Given the description of an element on the screen output the (x, y) to click on. 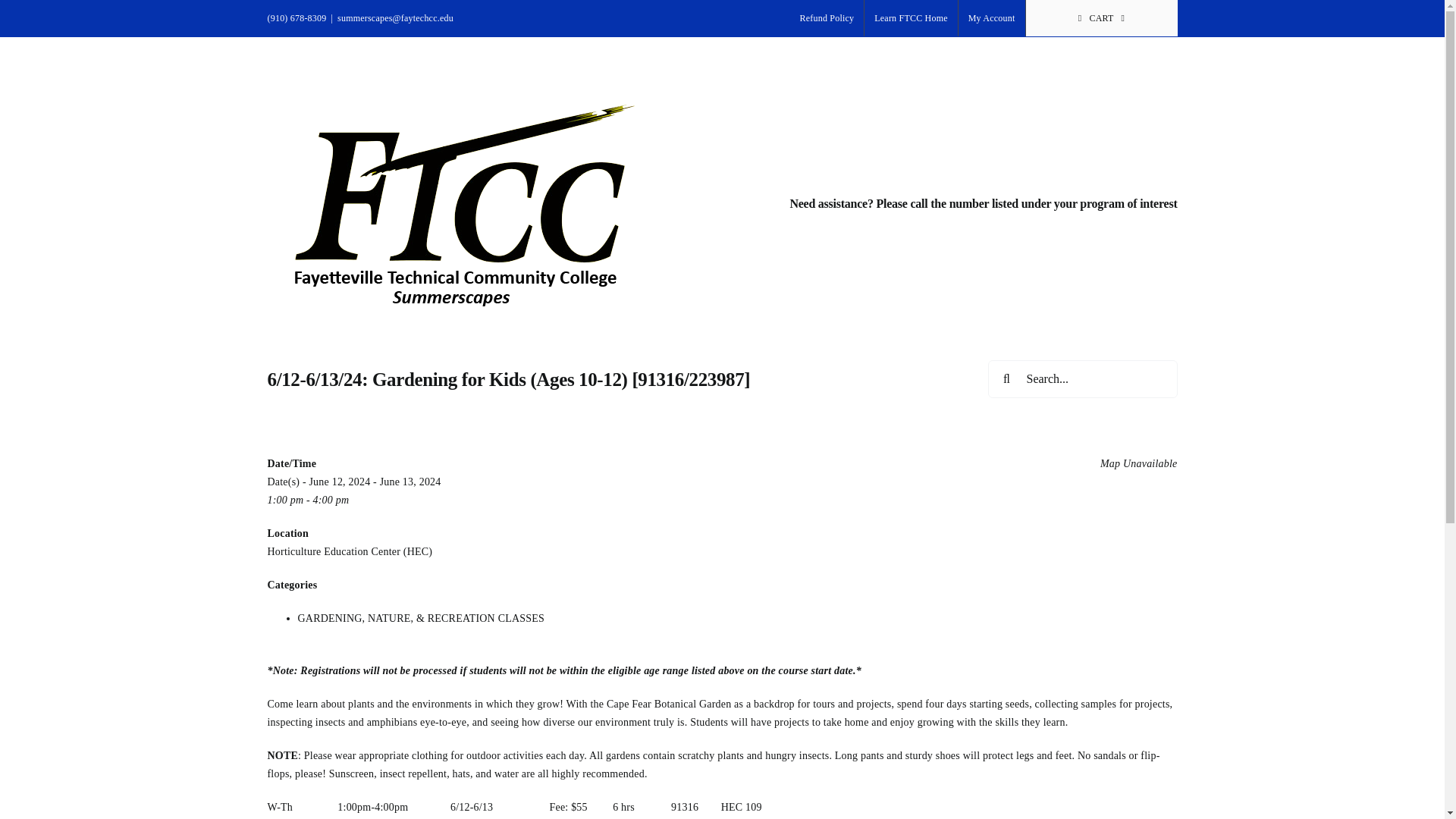
Learn FTCC Home (910, 18)
Refund Policy (827, 18)
My Account (991, 18)
Log In (1065, 179)
CART (1100, 18)
